Given the description of an element on the screen output the (x, y) to click on. 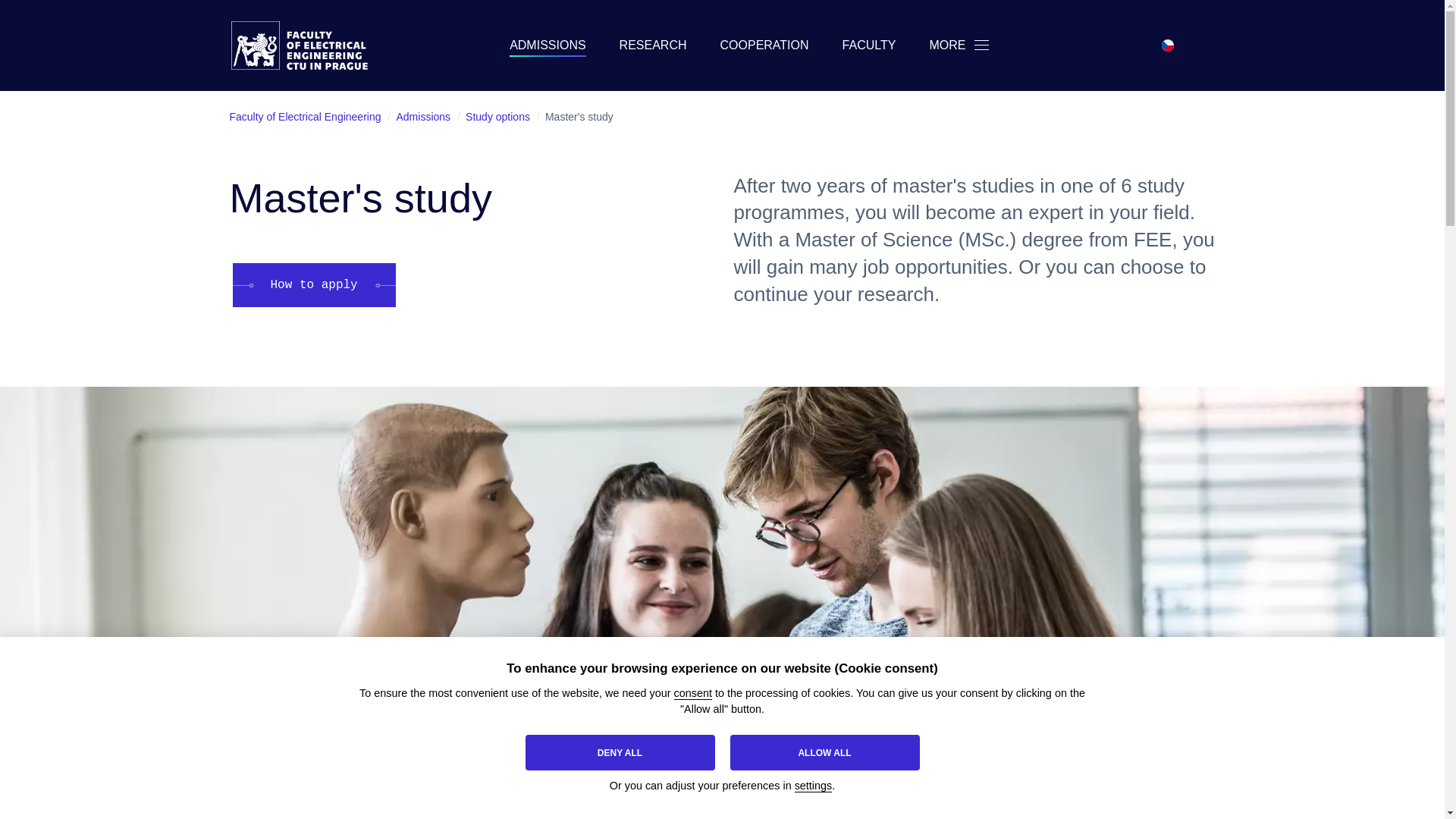
COOPERATION (764, 45)
Faculty of Electrical Engineering (309, 45)
